Given the description of an element on the screen output the (x, y) to click on. 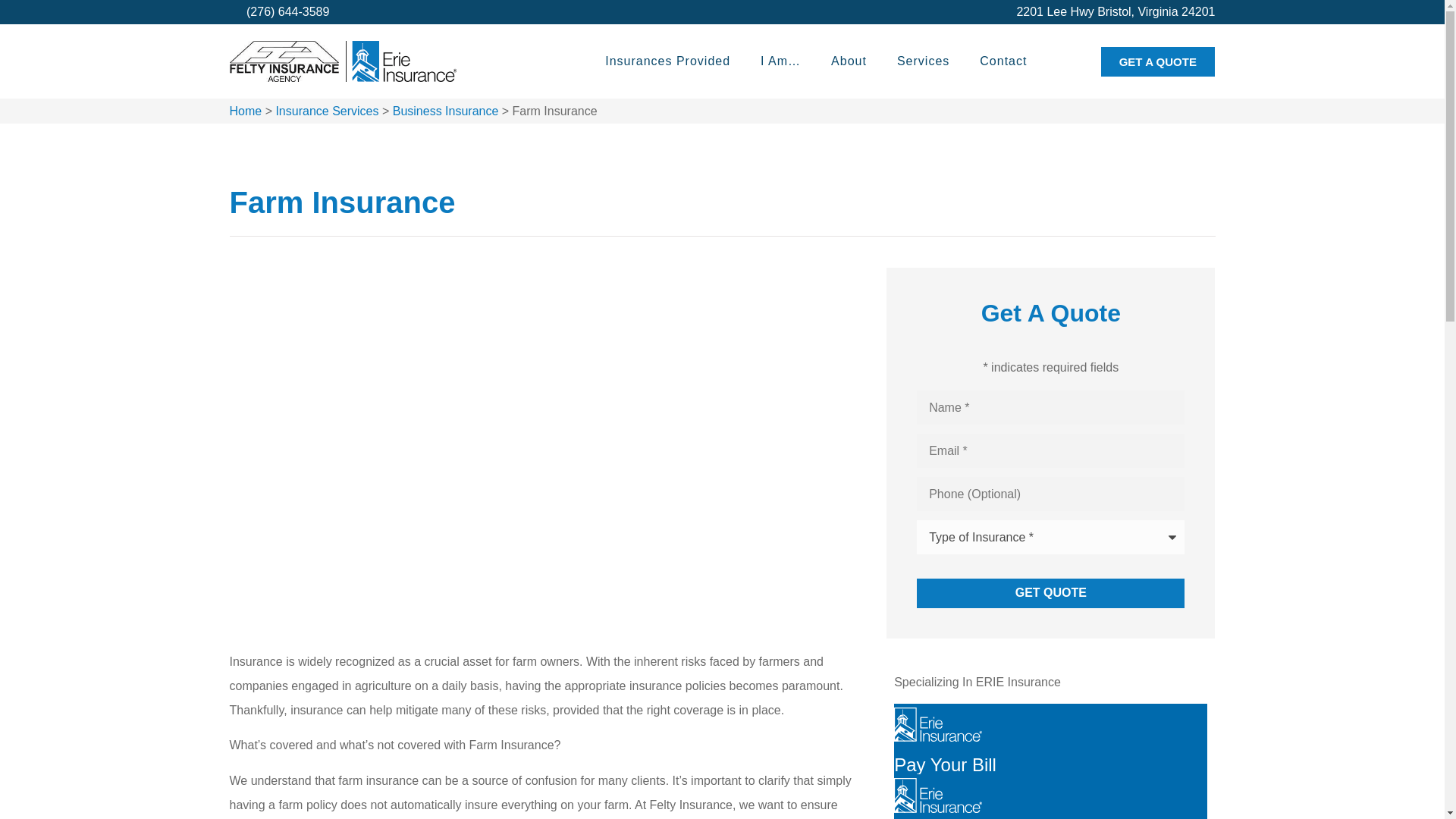
About (848, 61)
Get Quote (1051, 592)
logo (342, 60)
Services (922, 61)
Insurances Provided (667, 61)
